Given the description of an element on the screen output the (x, y) to click on. 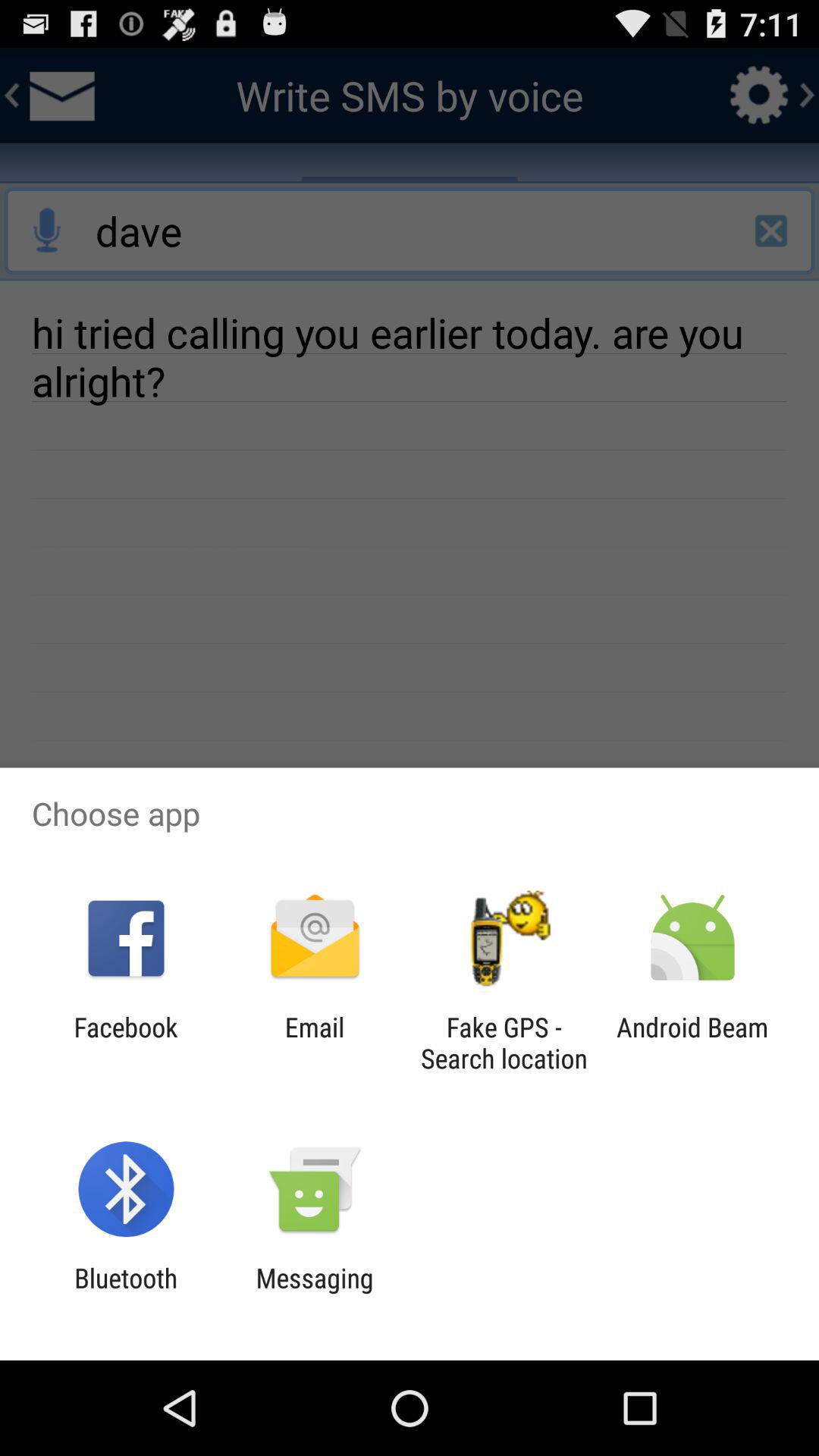
open fake gps search (503, 1042)
